Given the description of an element on the screen output the (x, y) to click on. 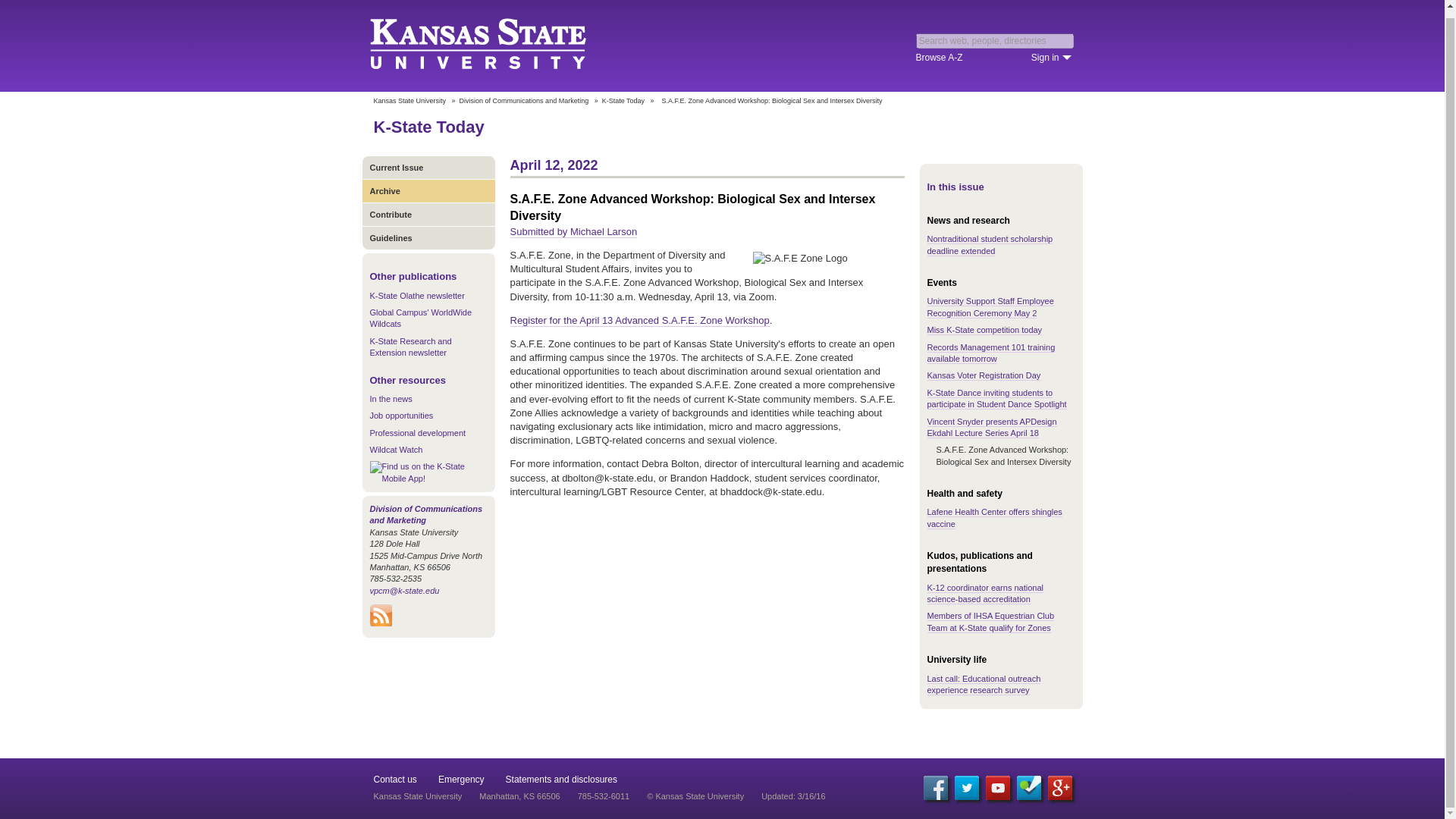
K-State Today (427, 126)
Search web, people, directories (994, 40)
Kansas State University (408, 100)
Global Campus' WorldWide Wildcats (420, 317)
Kansas State University (496, 45)
Search web, people, directories (994, 40)
Subscribe to K-State Today RSS feeds (380, 623)
Google Plus (1059, 787)
Division of Communications and Marketing (524, 100)
Facebook (935, 787)
Kansas Voter Registration Day (983, 375)
K-State Research and Extension newsletter (410, 346)
Miss K-State competition today (984, 329)
